Given the description of an element on the screen output the (x, y) to click on. 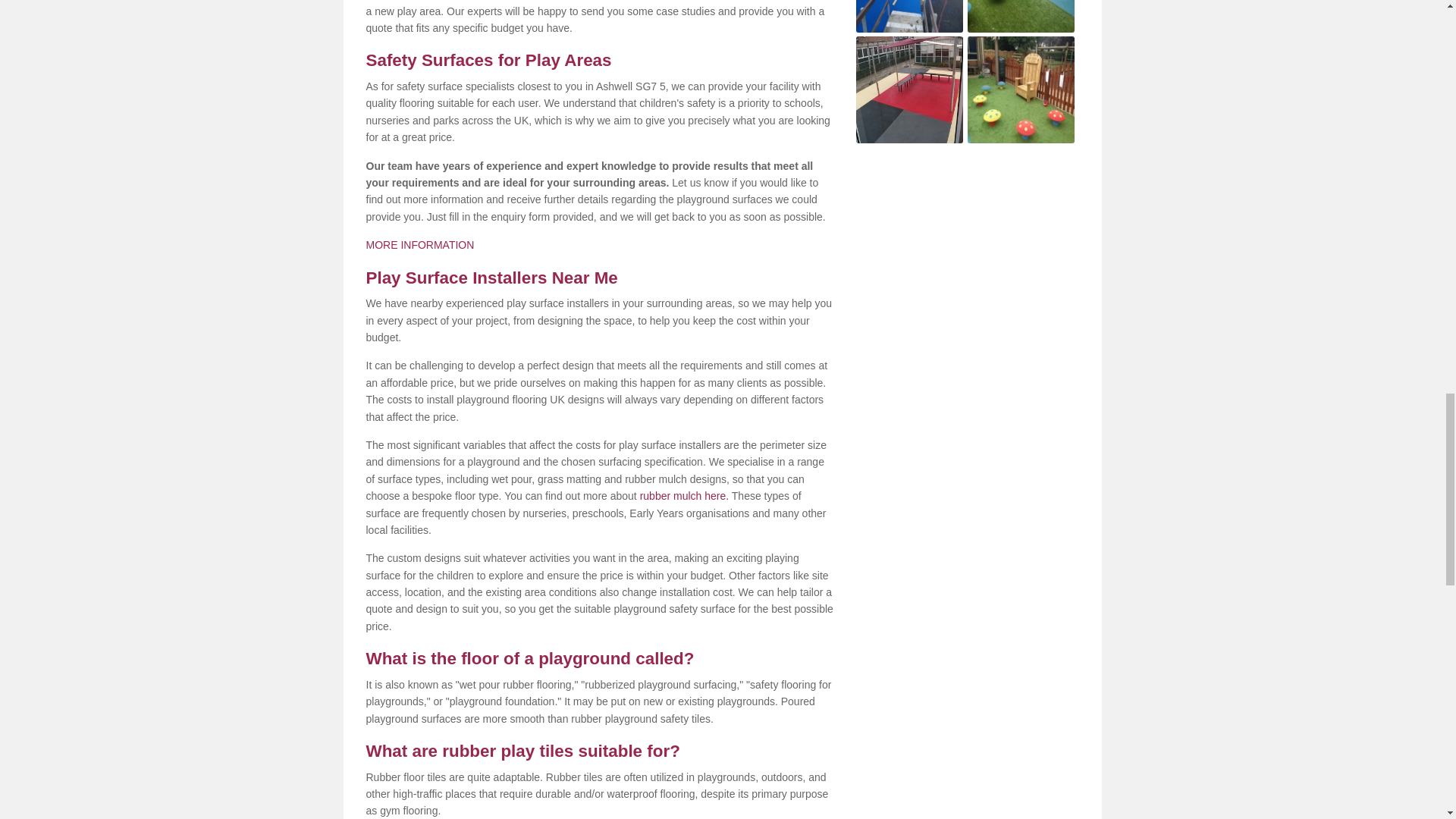
MORE INFORMATION (419, 244)
Playground Surface Flooring in Ashwell 12 (1021, 89)
Playground Surface Flooring in Ashwell 9 (909, 16)
Playground Surface Flooring in Ashwell 10 (1021, 16)
Playground Surface Flooring in Ashwell 11 (909, 89)
